Given the description of an element on the screen output the (x, y) to click on. 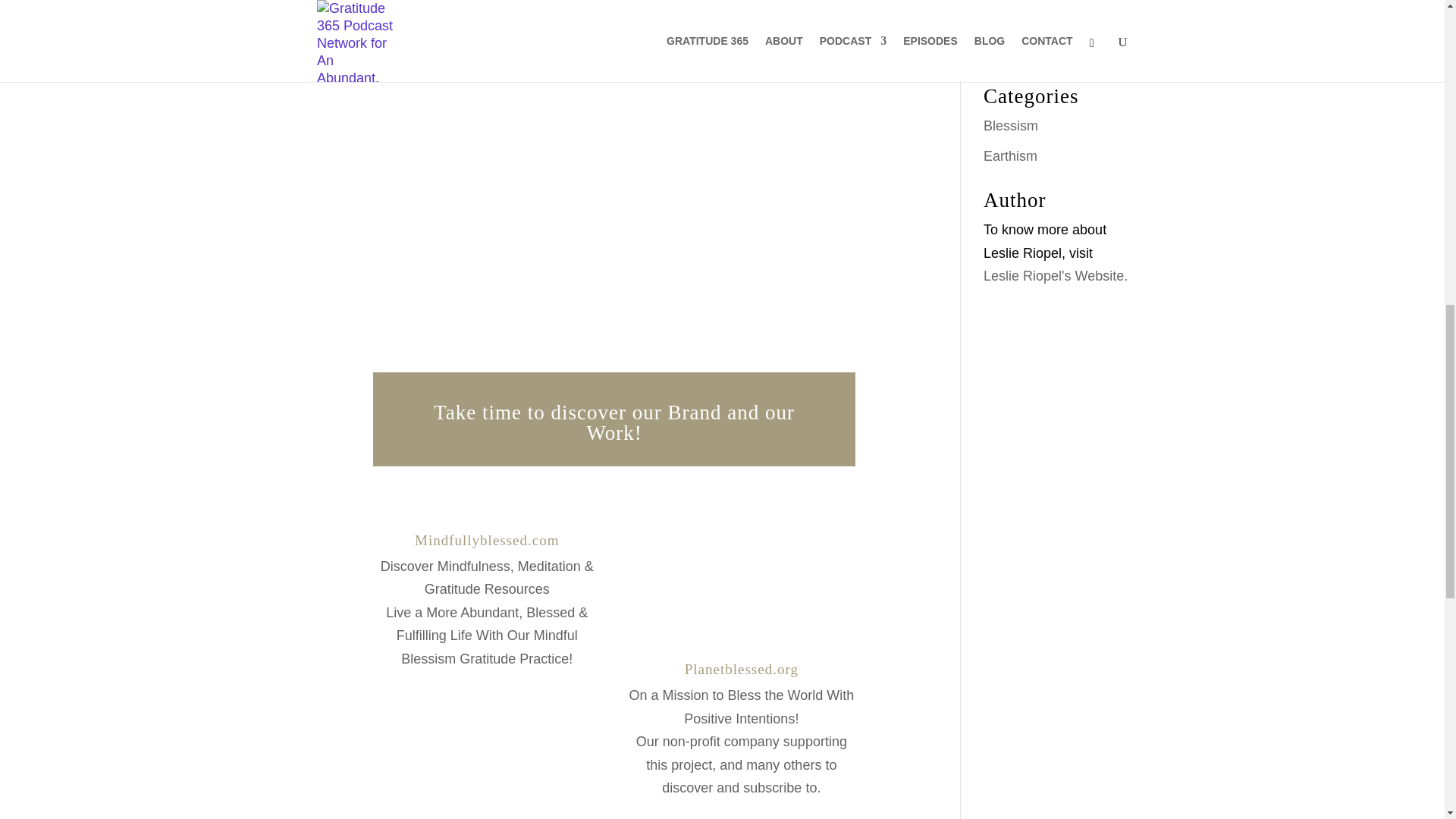
Leslie Riopel's Website. (1055, 275)
Blessism (1011, 125)
Earthism (1010, 155)
